Given the description of an element on the screen output the (x, y) to click on. 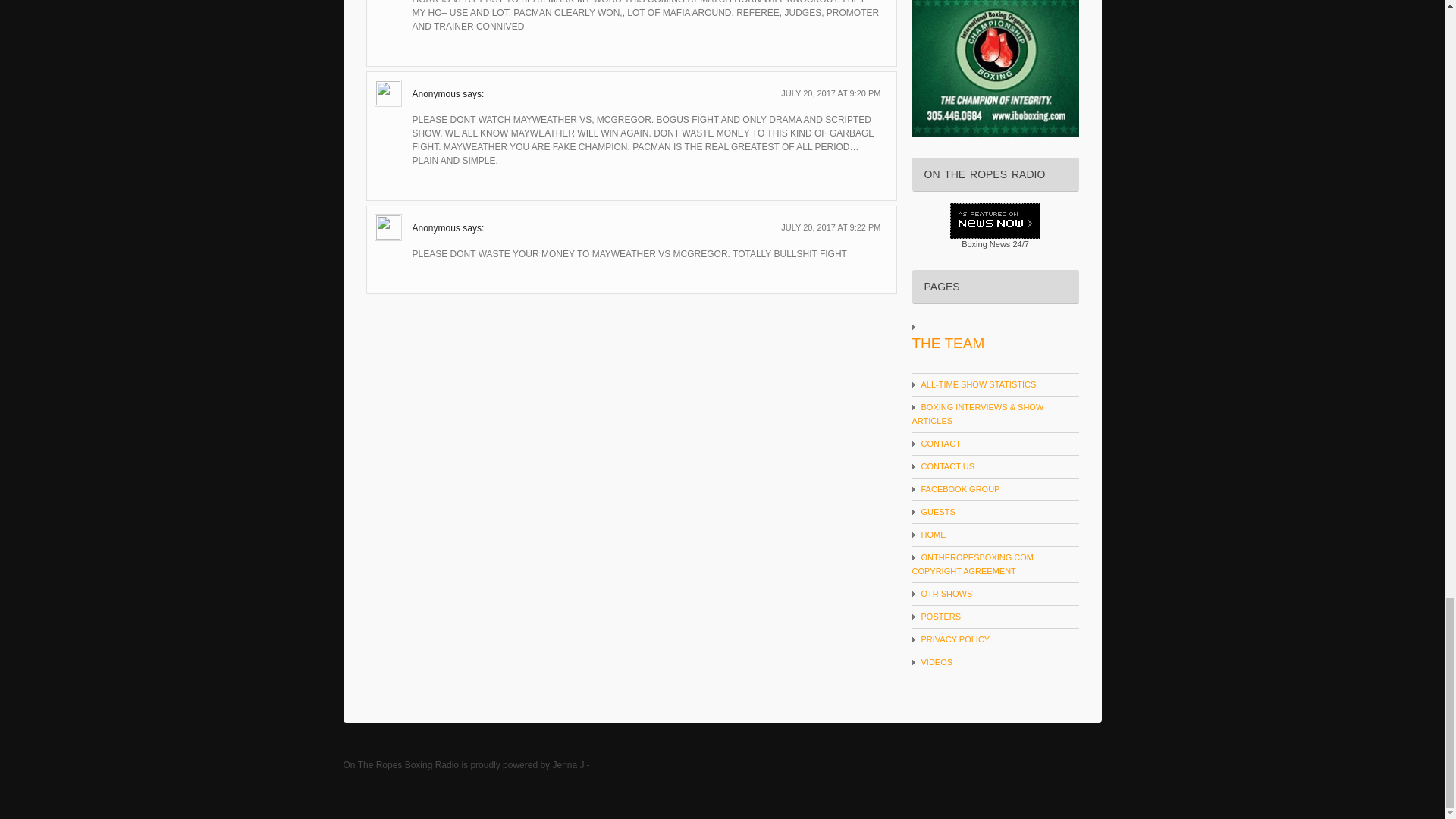
Click here for more Boxing news from NewsNow (985, 243)
Click here for more Boxing news from NewsNow (1018, 243)
Click here for more Boxing news from NewsNow (995, 225)
On The Ropes Boxing Radio (400, 765)
